Given the description of an element on the screen output the (x, y) to click on. 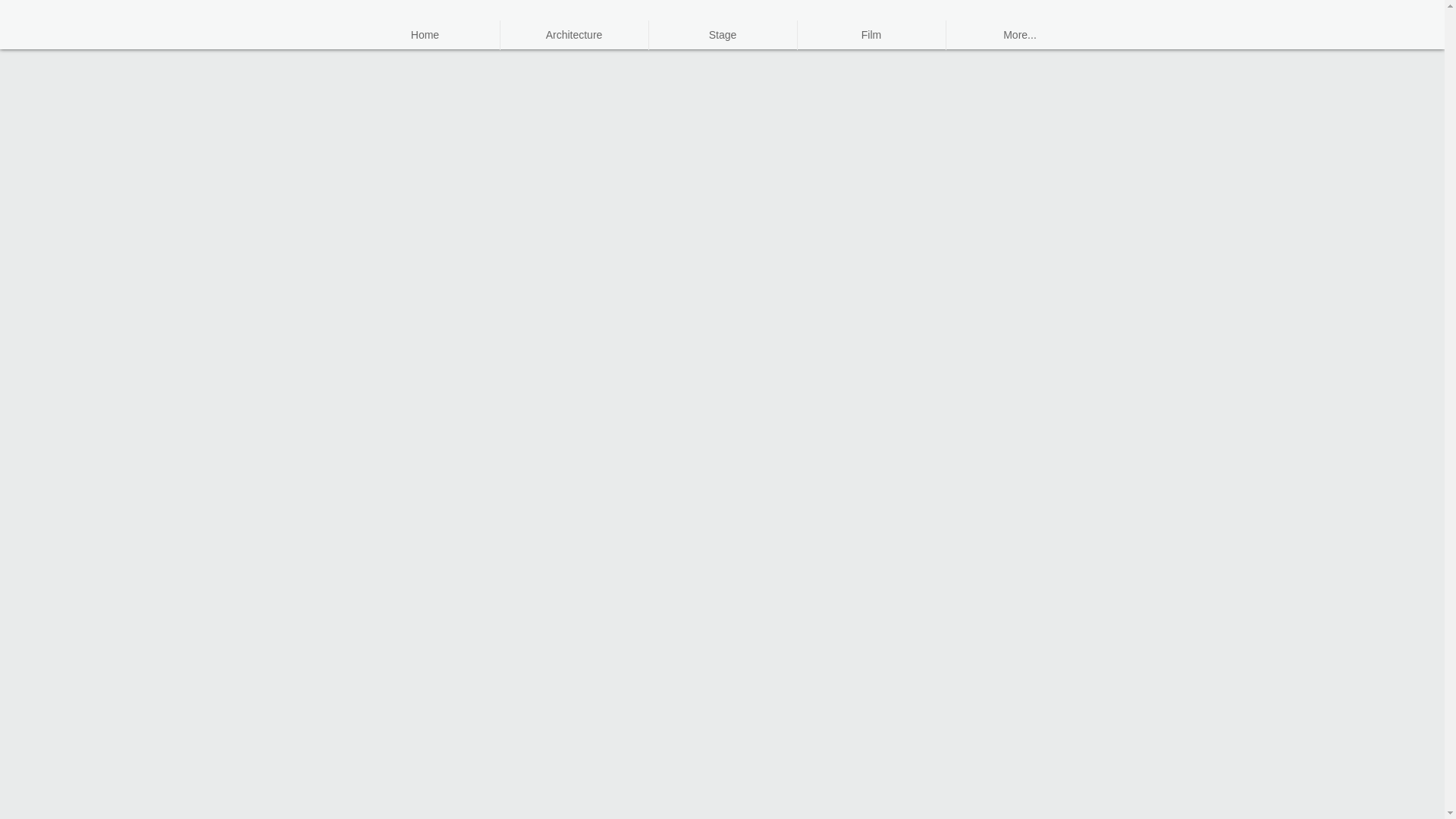
Home Element type: text (424, 35)
